Given the description of an element on the screen output the (x, y) to click on. 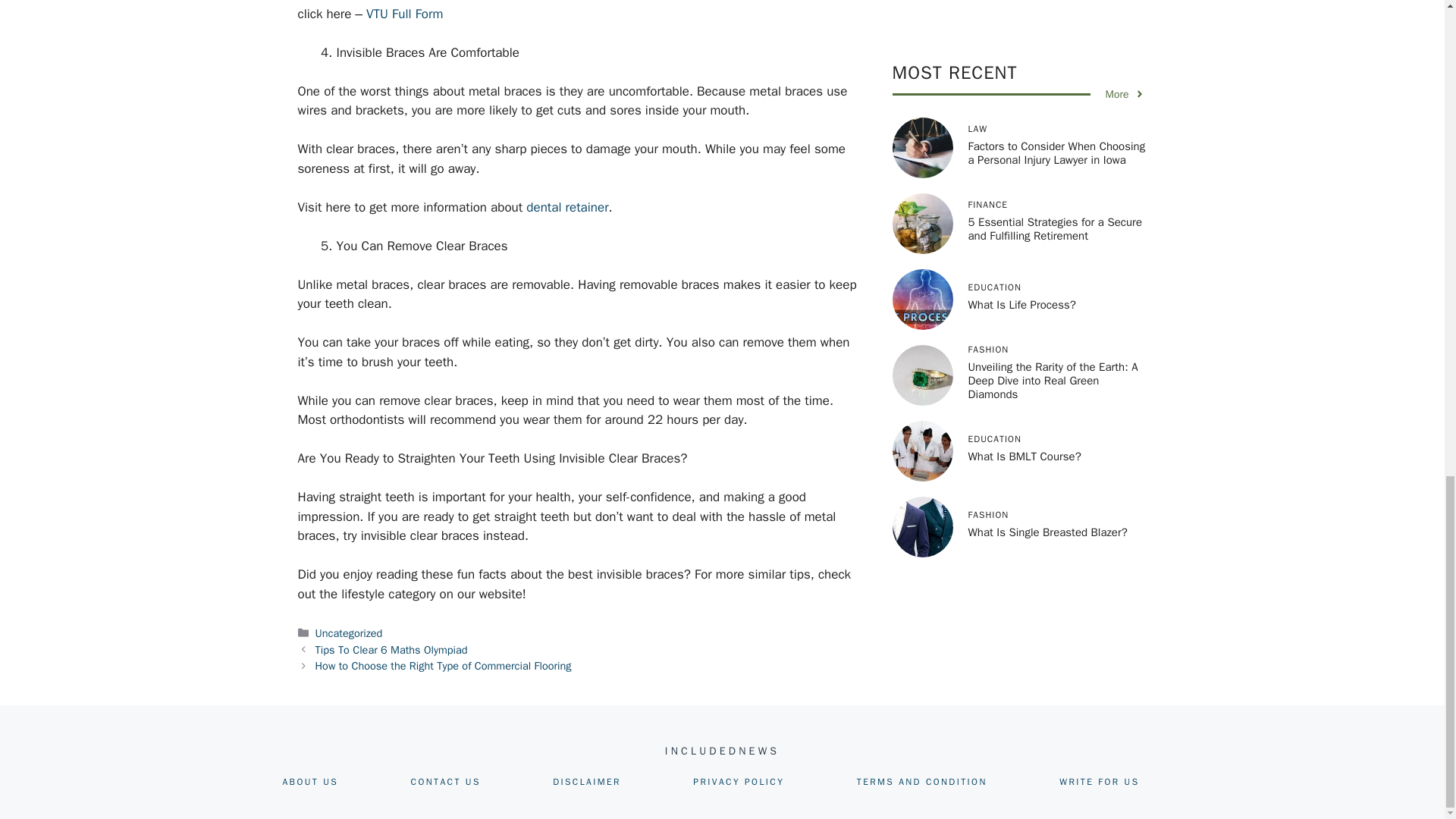
How to Choose the Right Type of Commercial Flooring (443, 665)
Tips To Clear 6 Maths Olympiad (391, 649)
dental retainer (566, 207)
Uncategorized (348, 632)
VTU Full Form (404, 13)
